Given the description of an element on the screen output the (x, y) to click on. 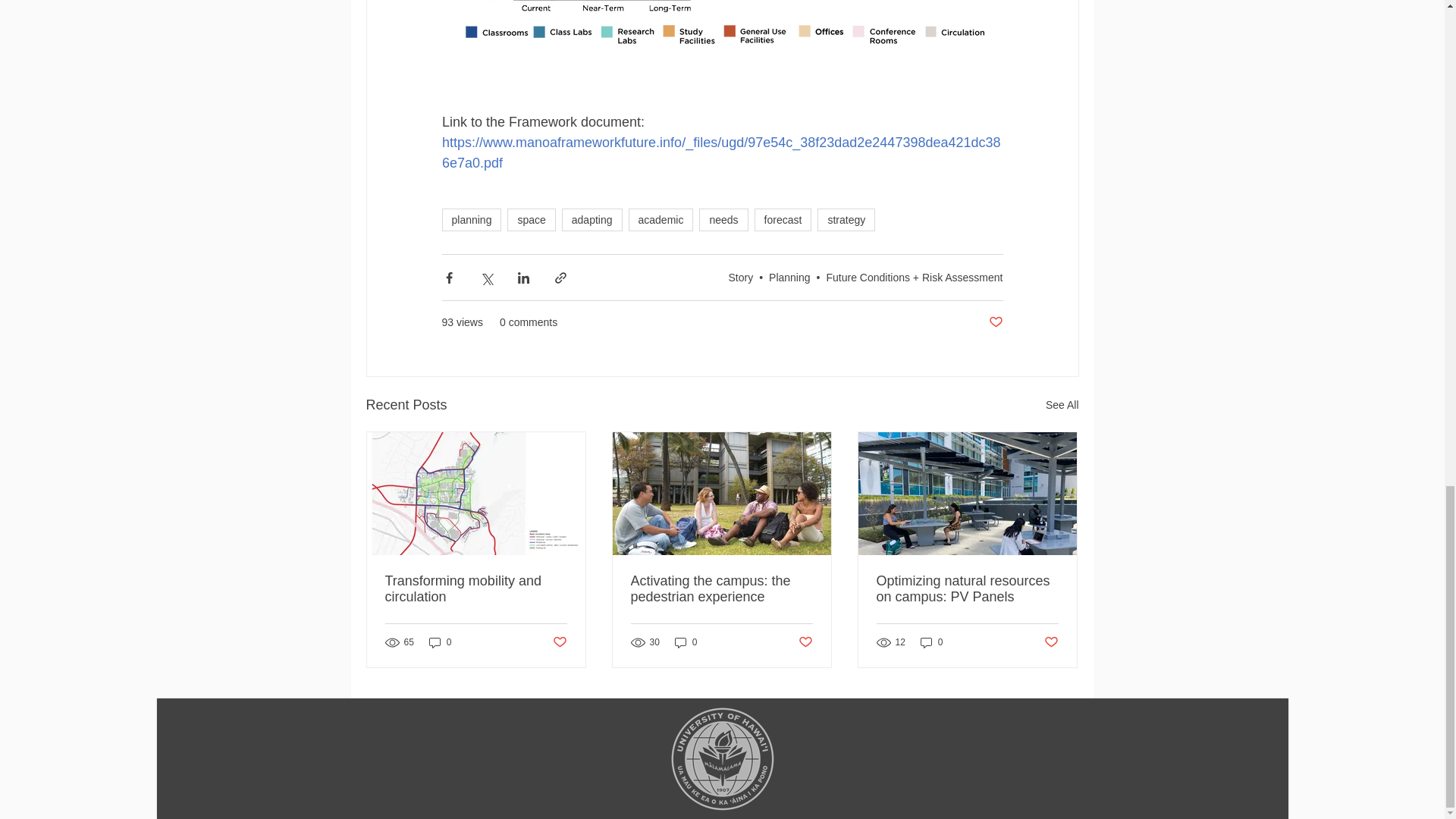
See All (1061, 404)
UHManoa-logo-lightgray-02.png (721, 758)
Planning (789, 277)
space (530, 219)
strategy (845, 219)
Post not marked as liked (995, 322)
academic (661, 219)
planning (470, 219)
adapting (592, 219)
needs (723, 219)
